Given the description of an element on the screen output the (x, y) to click on. 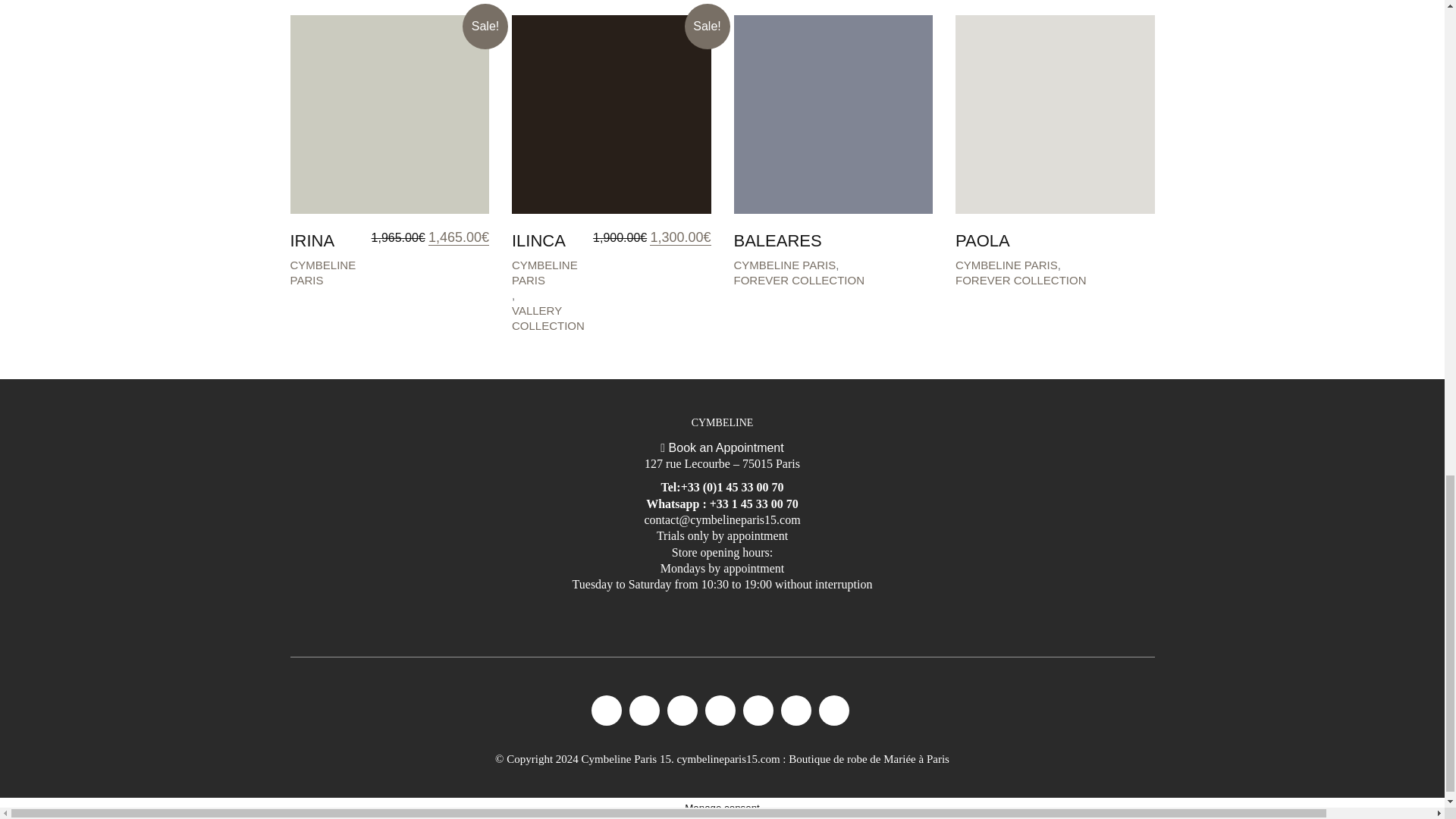
Facebook (606, 710)
Instagram (643, 710)
YouTube (681, 710)
